Given the description of an element on the screen output the (x, y) to click on. 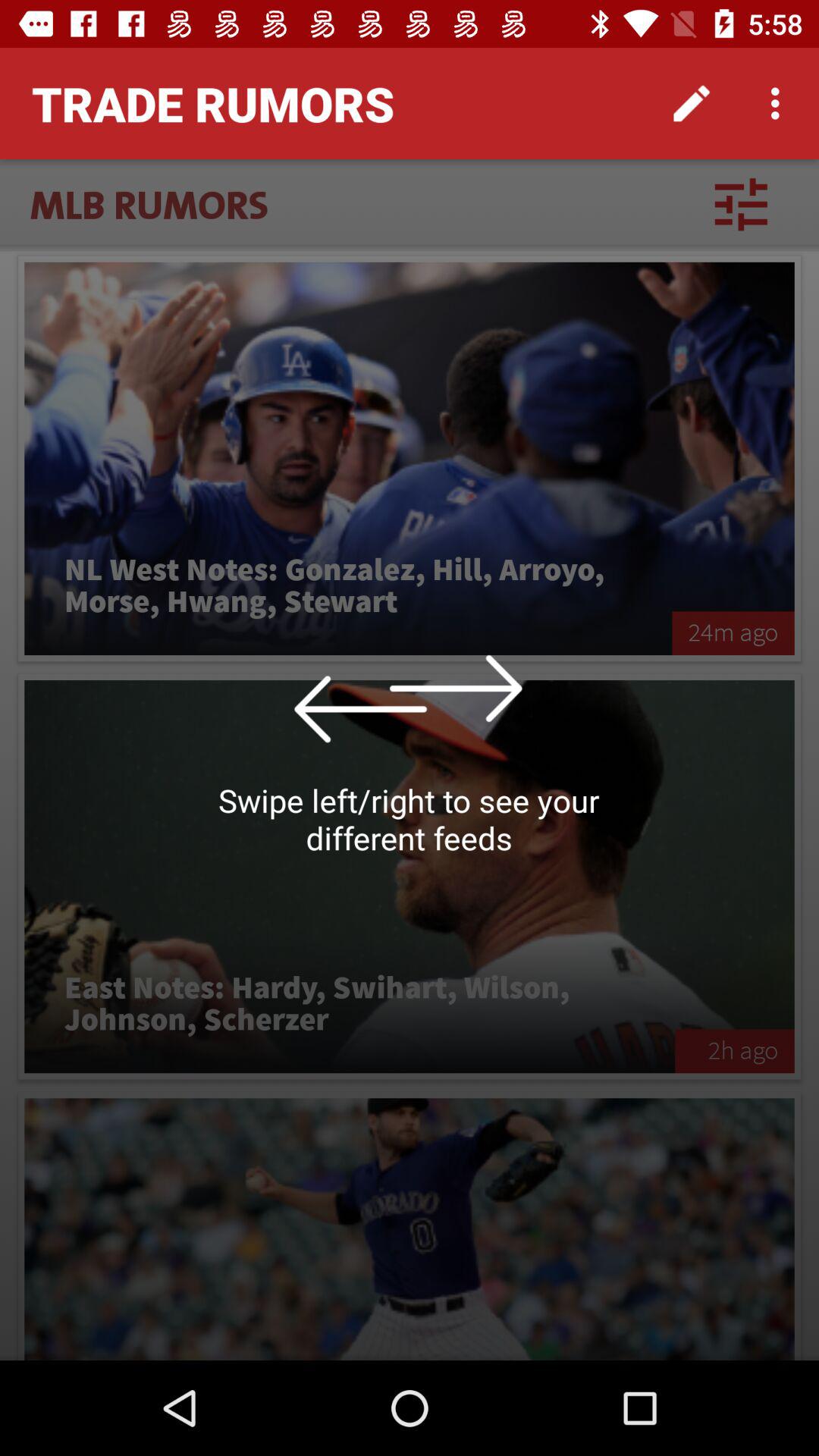
turn on icon to the right of nl west notes item (733, 633)
